Given the description of an element on the screen output the (x, y) to click on. 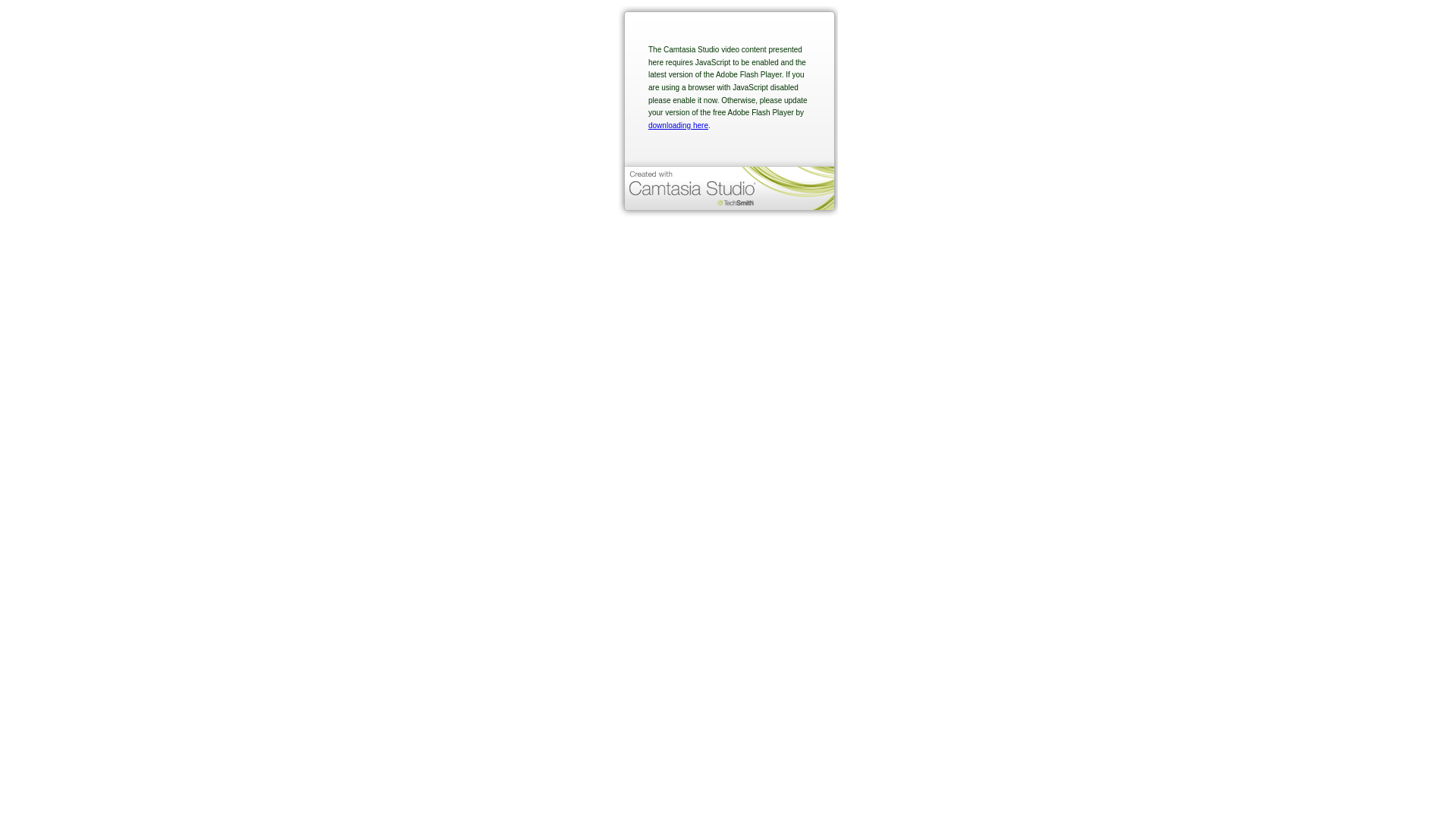
downloading here Element type: text (678, 125)
